Given the description of an element on the screen output the (x, y) to click on. 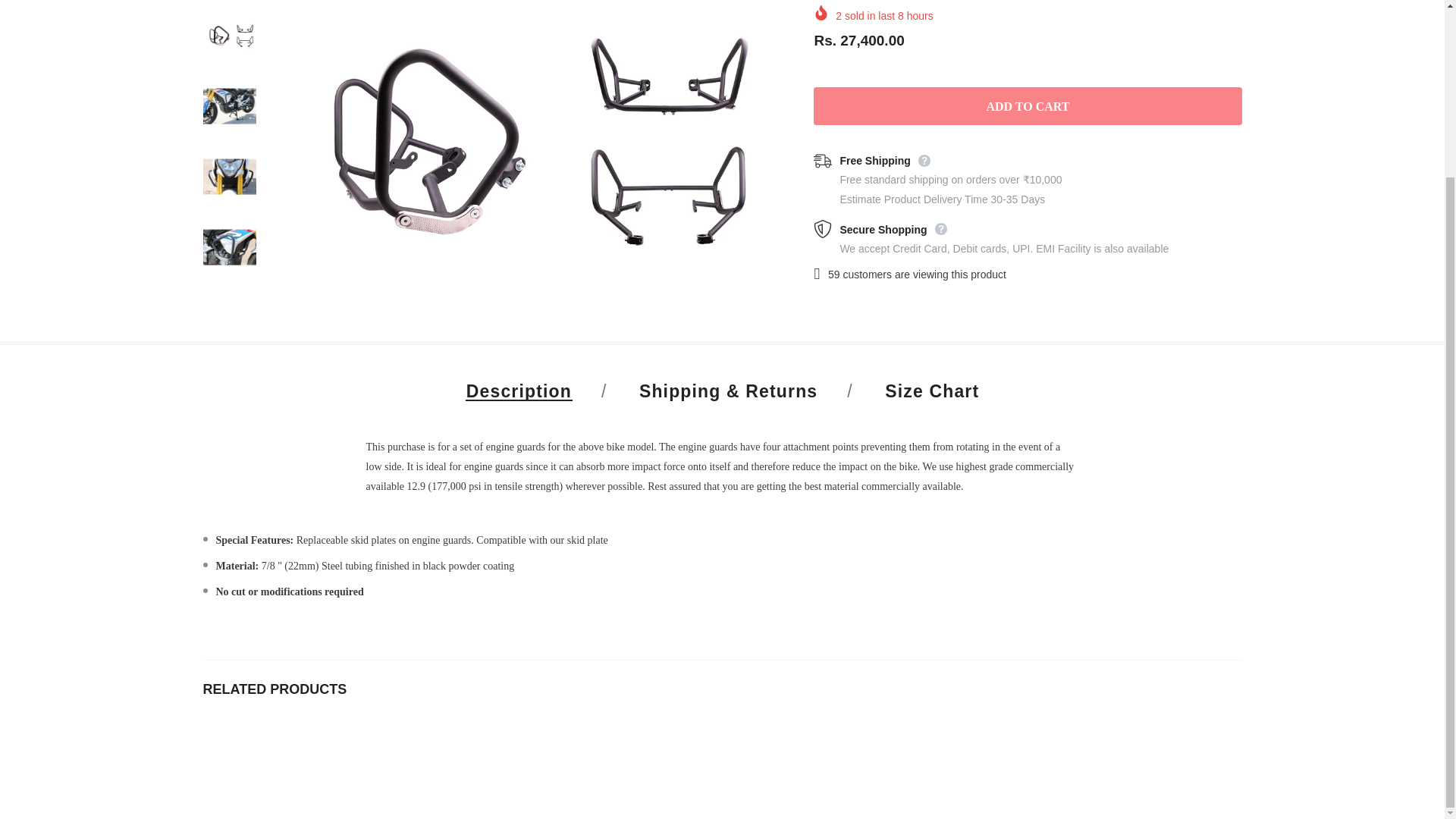
Add to cart (1027, 105)
